Given the description of an element on the screen output the (x, y) to click on. 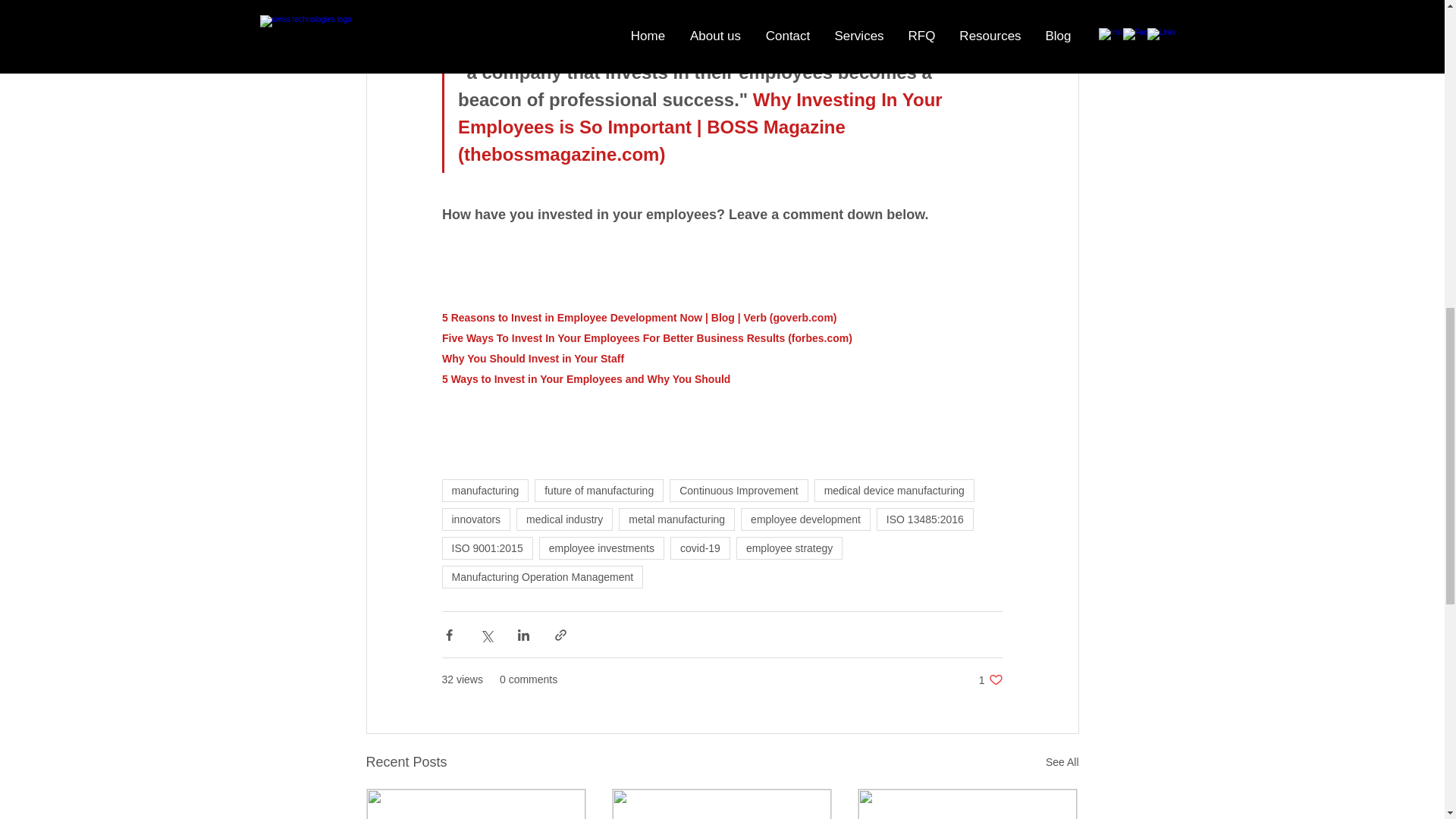
Continuous Improvement (738, 490)
innovators (476, 518)
medical industry (564, 518)
5 Ways to Invest in Your Employees and Why You Should (585, 378)
future of manufacturing (598, 490)
manufacturing (484, 490)
medical device manufacturing (893, 490)
metal manufacturing (676, 518)
Why You Should Invest in Your Staff (532, 357)
